Given the description of an element on the screen output the (x, y) to click on. 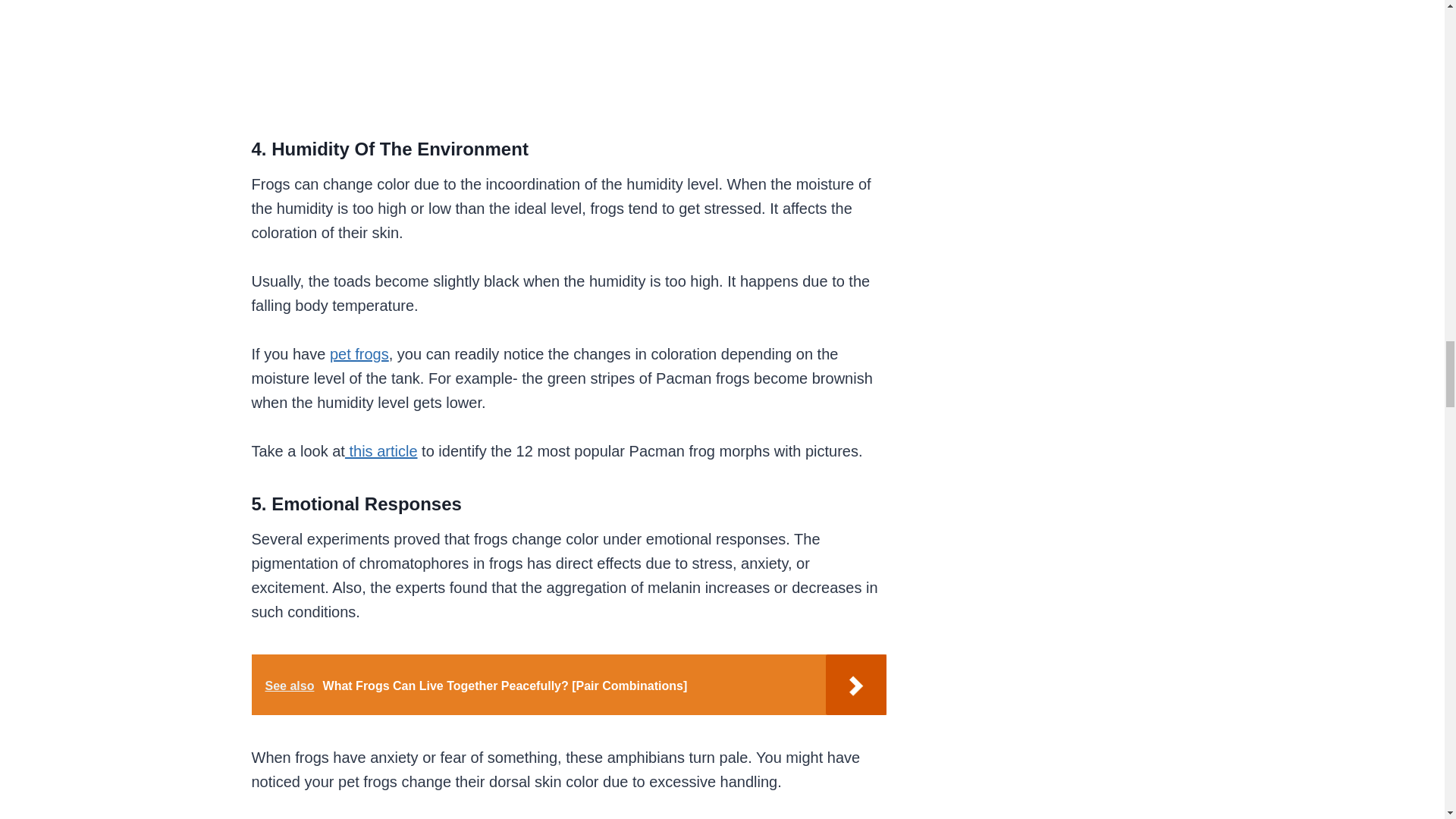
pet frogs (359, 353)
